Given the description of an element on the screen output the (x, y) to click on. 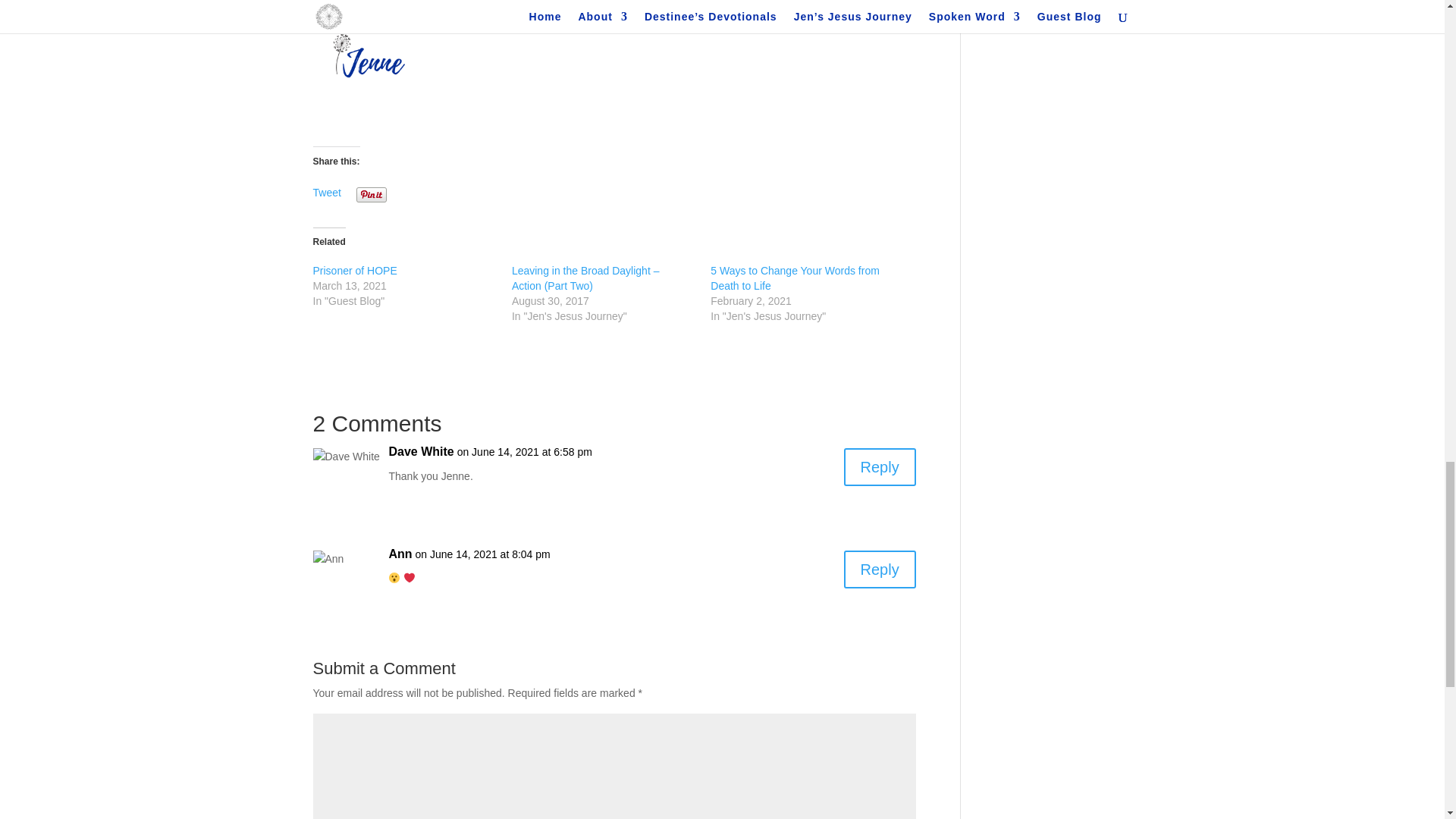
Jenne (373, 54)
Prisoner of HOPE (354, 270)
5 Ways to Change Your Words from Death to Life (794, 277)
Prisoner of HOPE (354, 270)
Reply (879, 466)
5 Ways to Change Your Words from Death to Life (794, 277)
Tweet (326, 192)
Reply (879, 569)
